Given the description of an element on the screen output the (x, y) to click on. 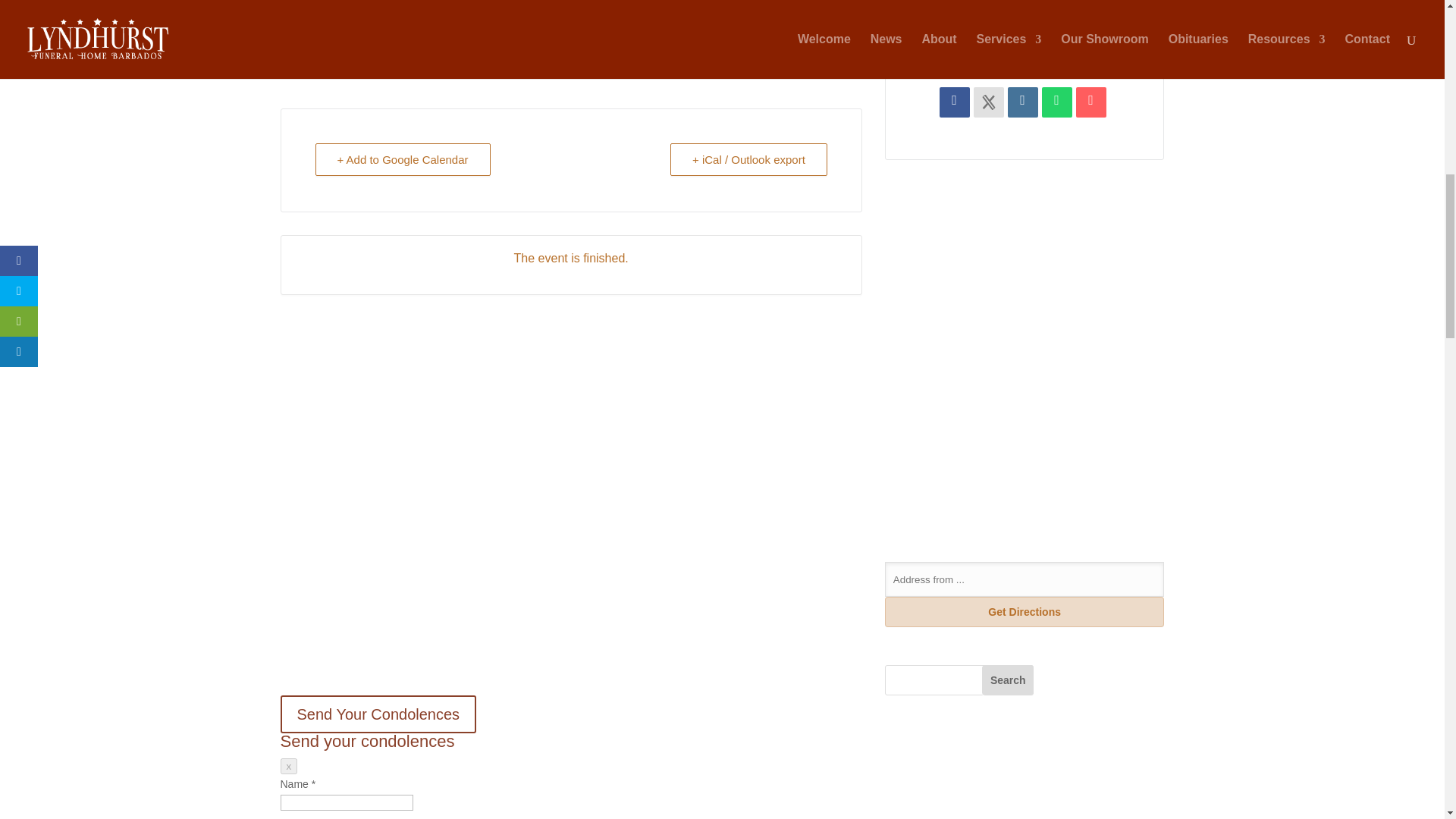
Linkedin (1022, 101)
Get Directions (1024, 612)
Email (1090, 101)
Get Directions (289, 765)
Search (1024, 612)
Share on Facebook (1007, 680)
Share on WhatsApp (954, 101)
X Social Network (1056, 101)
Search (989, 101)
